Given the description of an element on the screen output the (x, y) to click on. 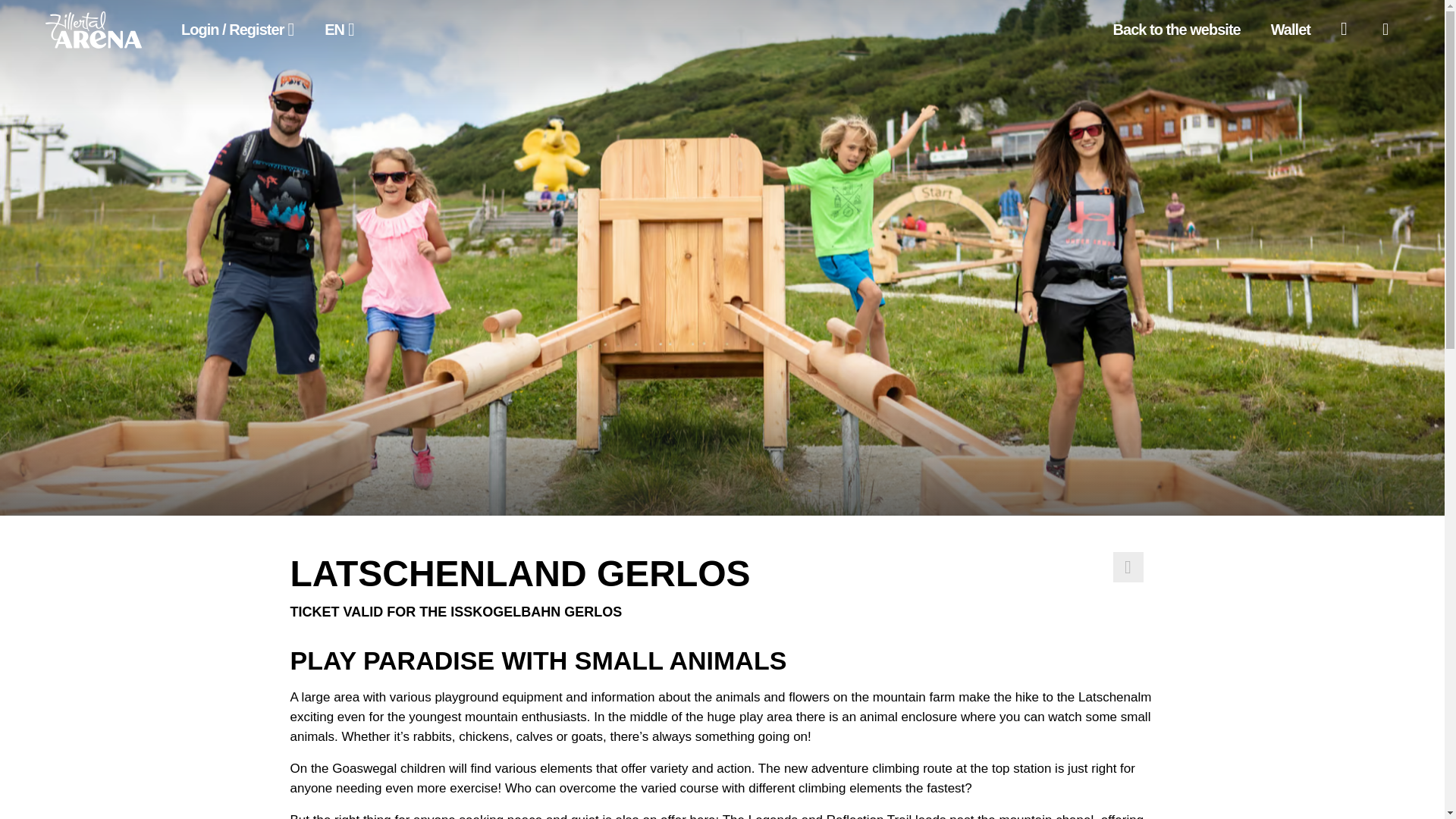
Wallet (1289, 29)
Back to the website (1176, 29)
